Given the description of an element on the screen output the (x, y) to click on. 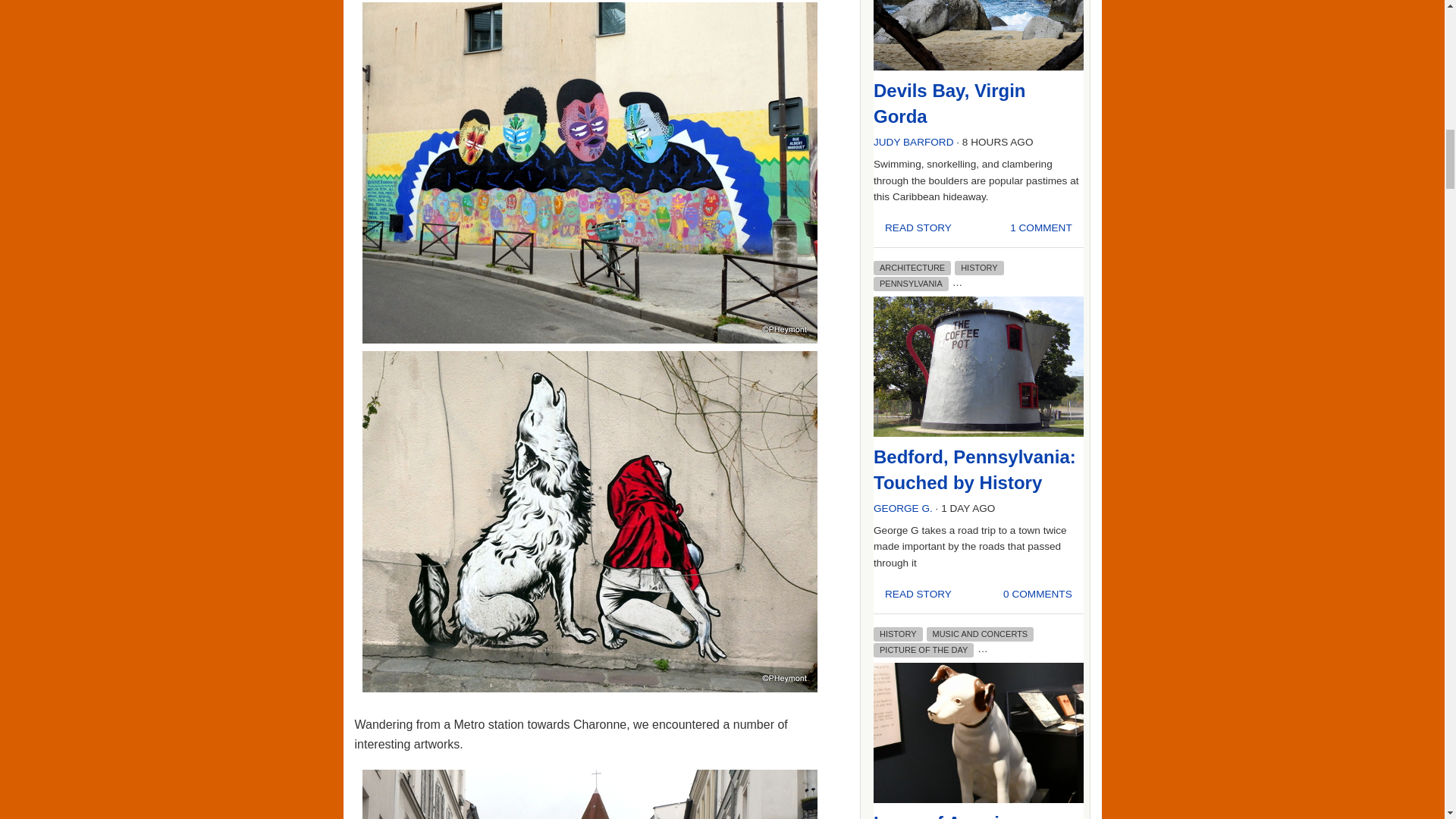
P1210185 (589, 794)
